Given the description of an element on the screen output the (x, y) to click on. 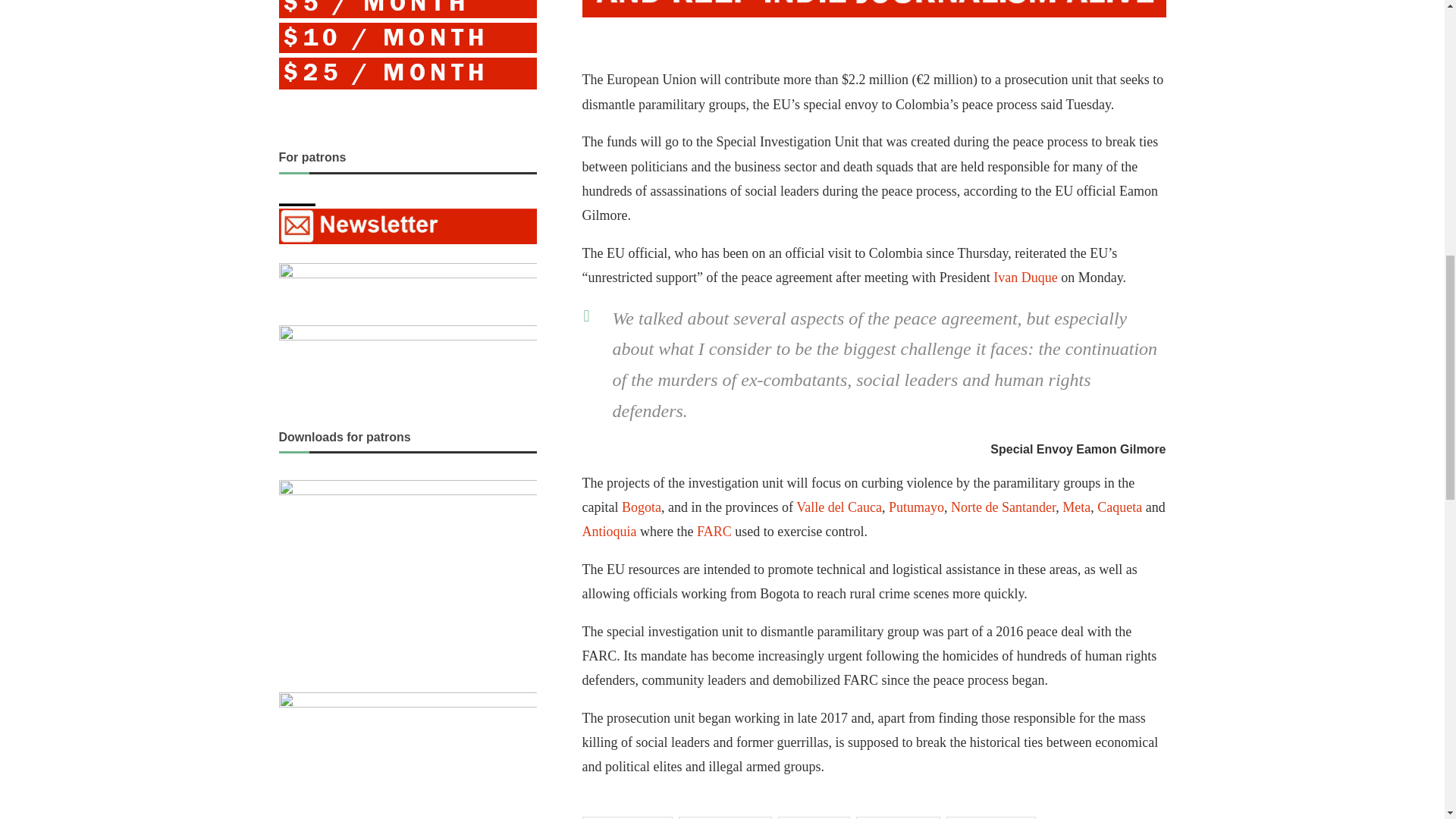
Valle del Cauca, Colombia (839, 507)
Norte de Santander, Colombia (1002, 507)
Putumayo, Colombia (915, 507)
Bogota travel (641, 507)
